Given the description of an element on the screen output the (x, y) to click on. 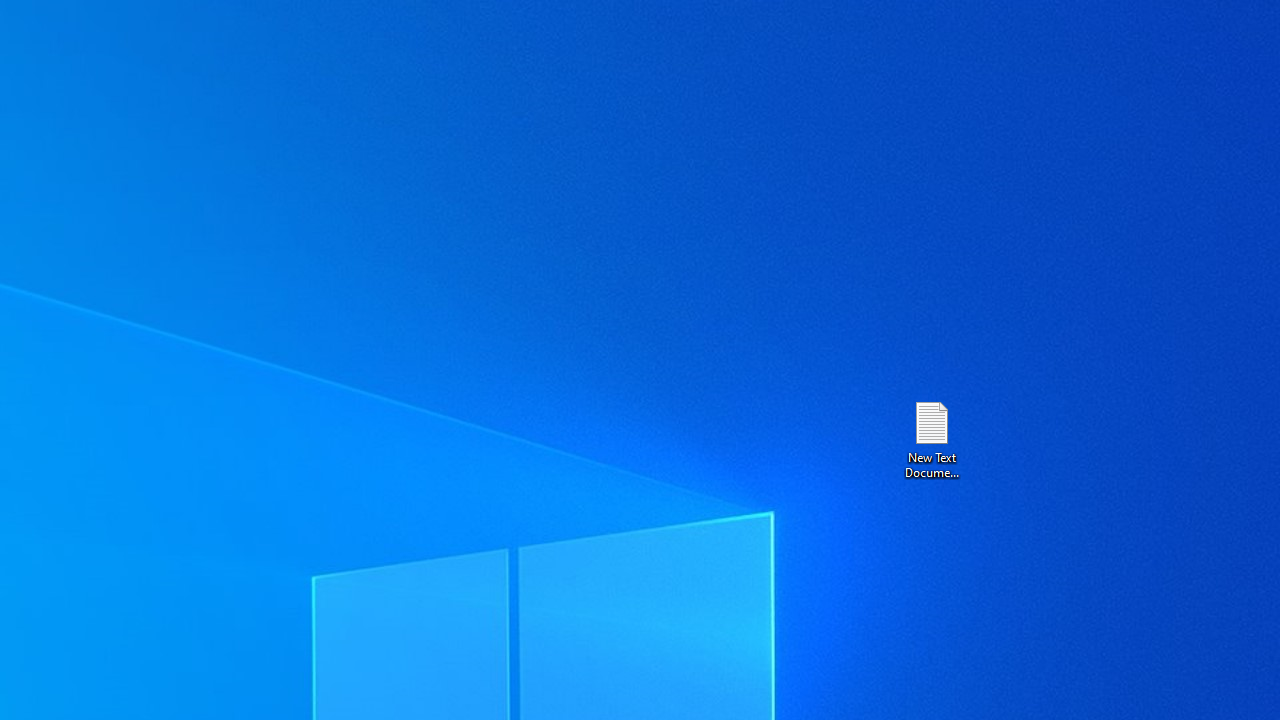
New Text Document (2) (931, 438)
